Given the description of an element on the screen output the (x, y) to click on. 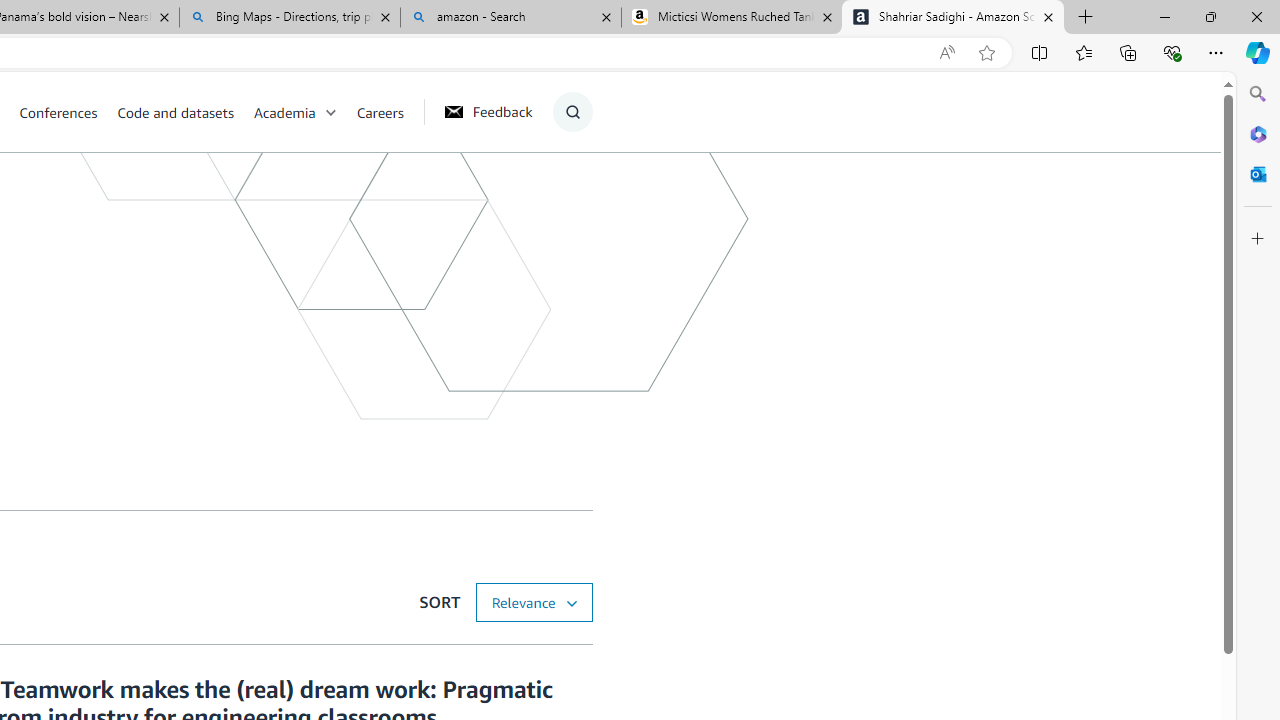
Outlook (1258, 174)
Careers (379, 111)
Feedback (488, 111)
Class: icon-magnify (571, 111)
Conferences (68, 111)
Show Search Form (571, 111)
Conferences (58, 111)
